Given the description of an element on the screen output the (x, y) to click on. 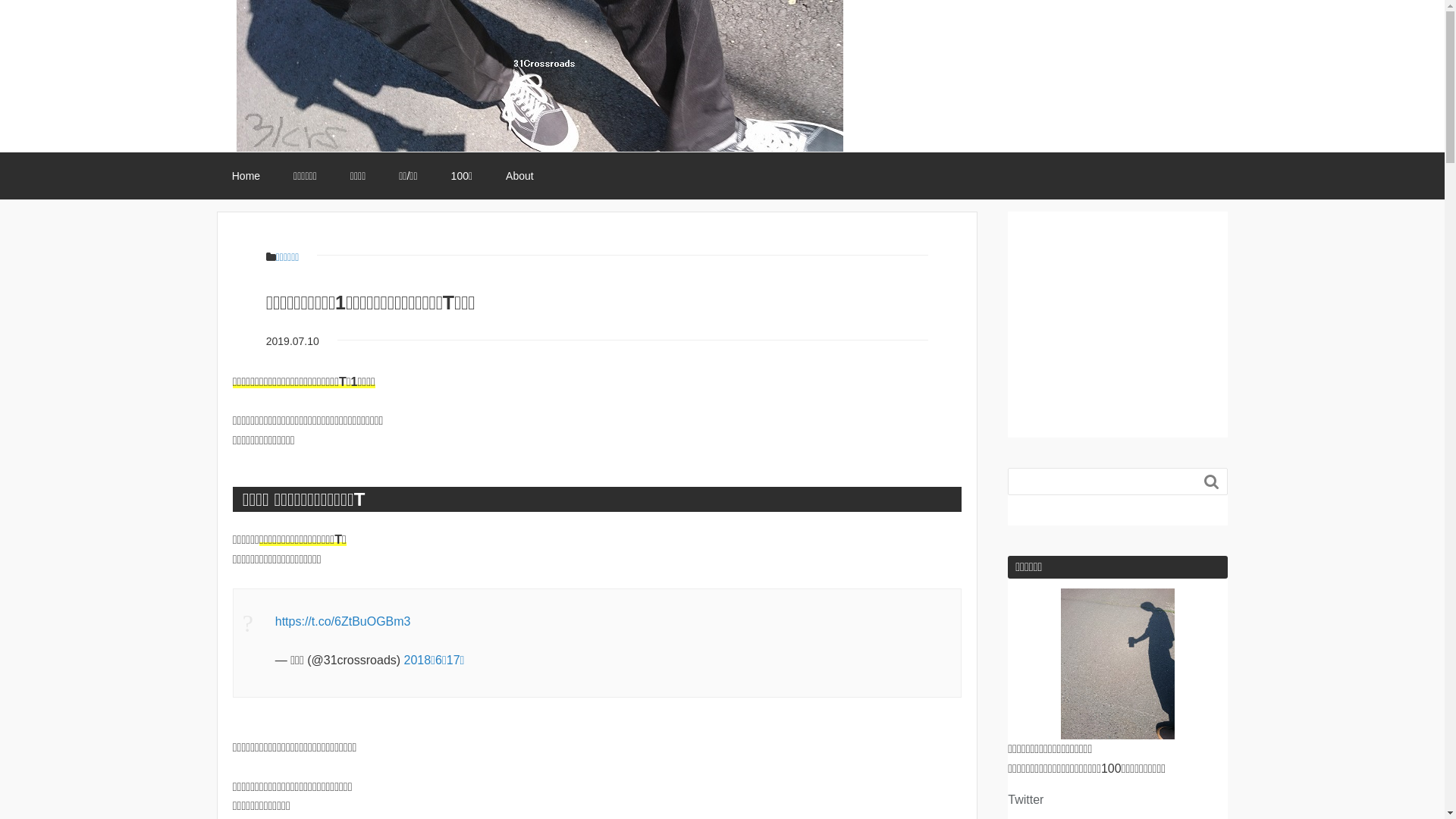
https://t.co/6ZtBuOGBm3 Element type: text (343, 621)
Home Element type: text (246, 175)
Advertisement Element type: hover (1121, 306)
About Element type: text (519, 175)
Twitter Element type: text (1025, 799)
